Given the description of an element on the screen output the (x, y) to click on. 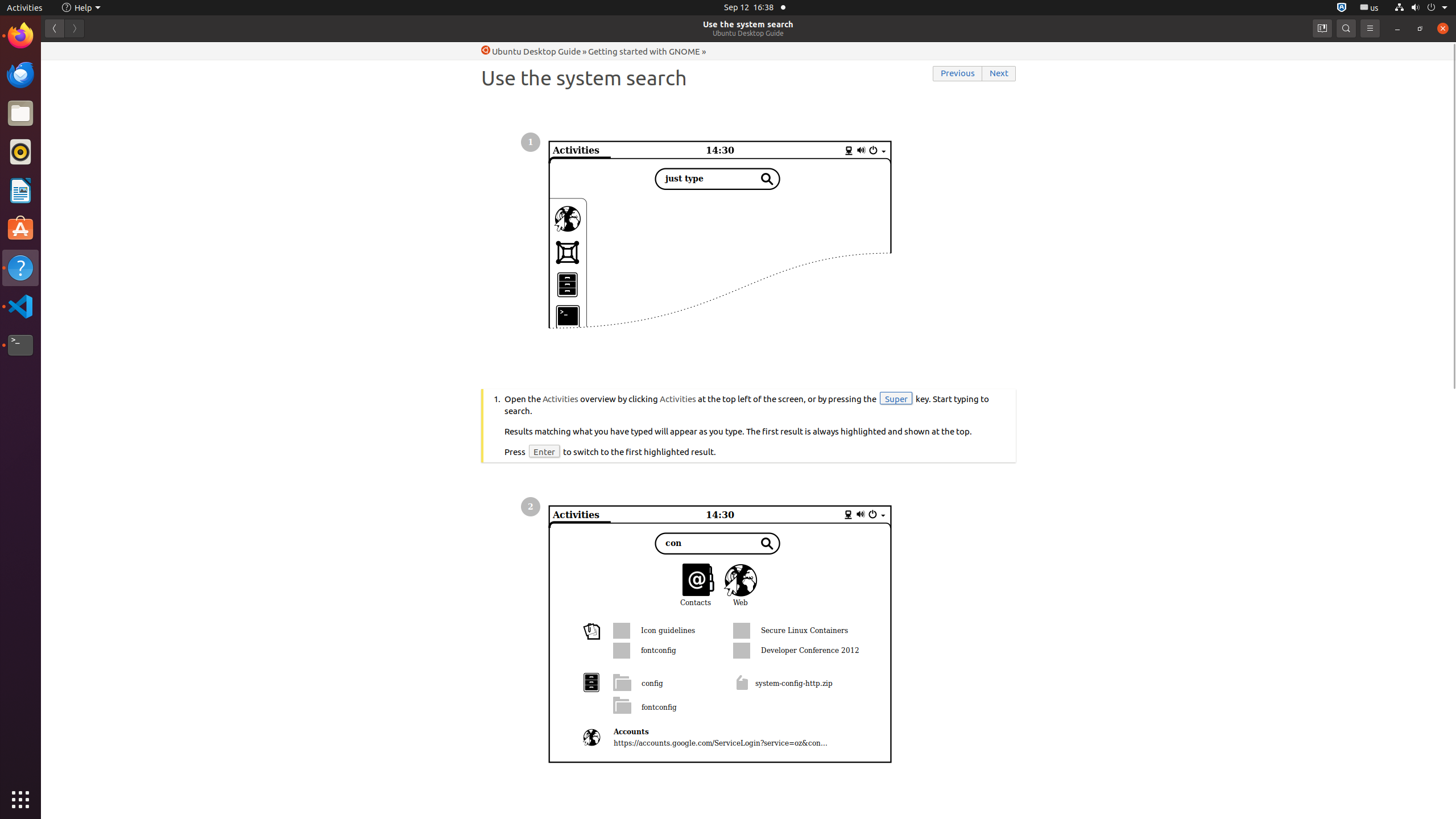
Help Ubuntu Desktop Guide Element type: link (530, 50)
